Given the description of an element on the screen output the (x, y) to click on. 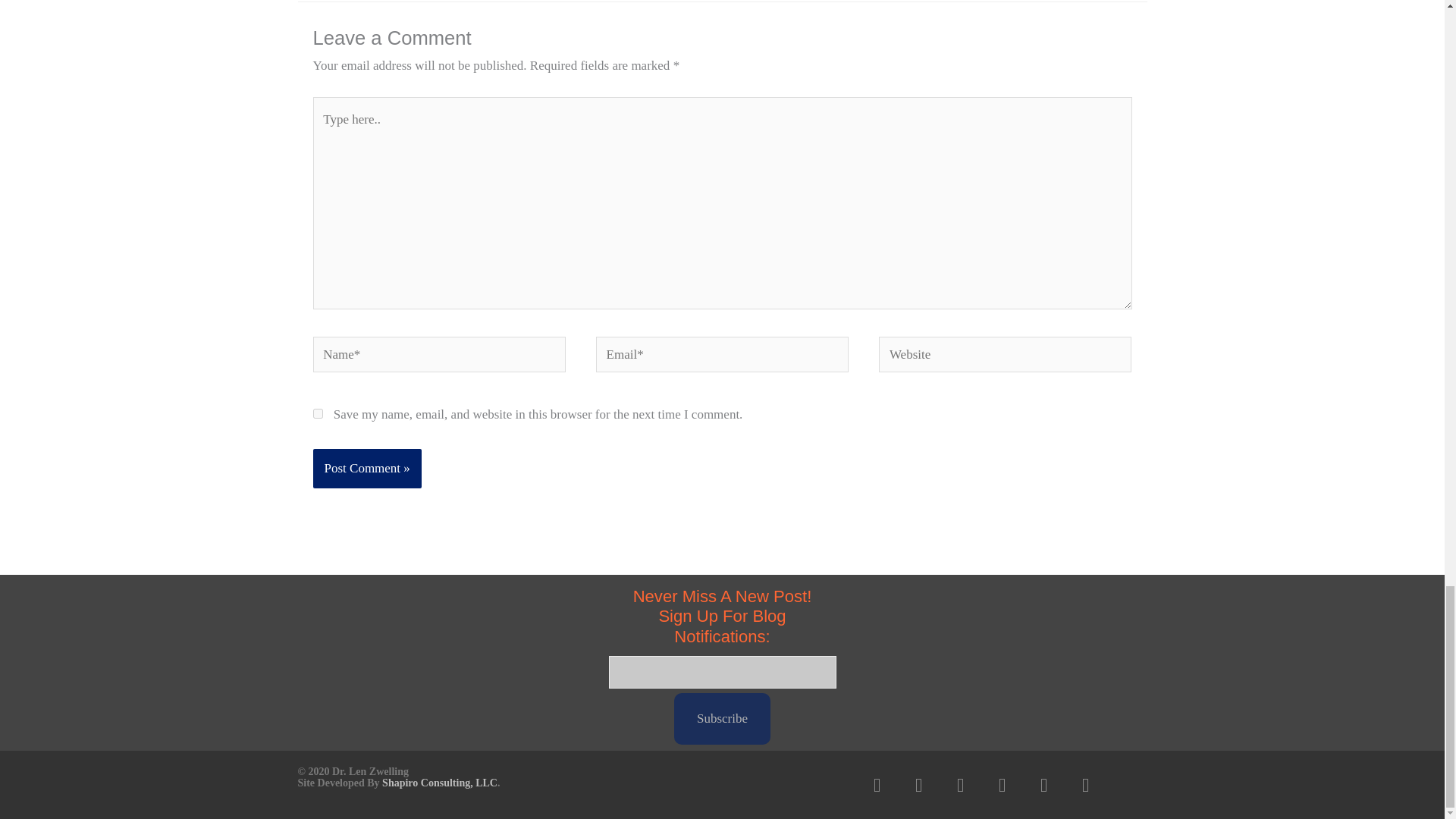
Subscribe (722, 718)
Subscribe (722, 718)
yes (317, 413)
Shapiro Consulting, LLC (439, 782)
